Given the description of an element on the screen output the (x, y) to click on. 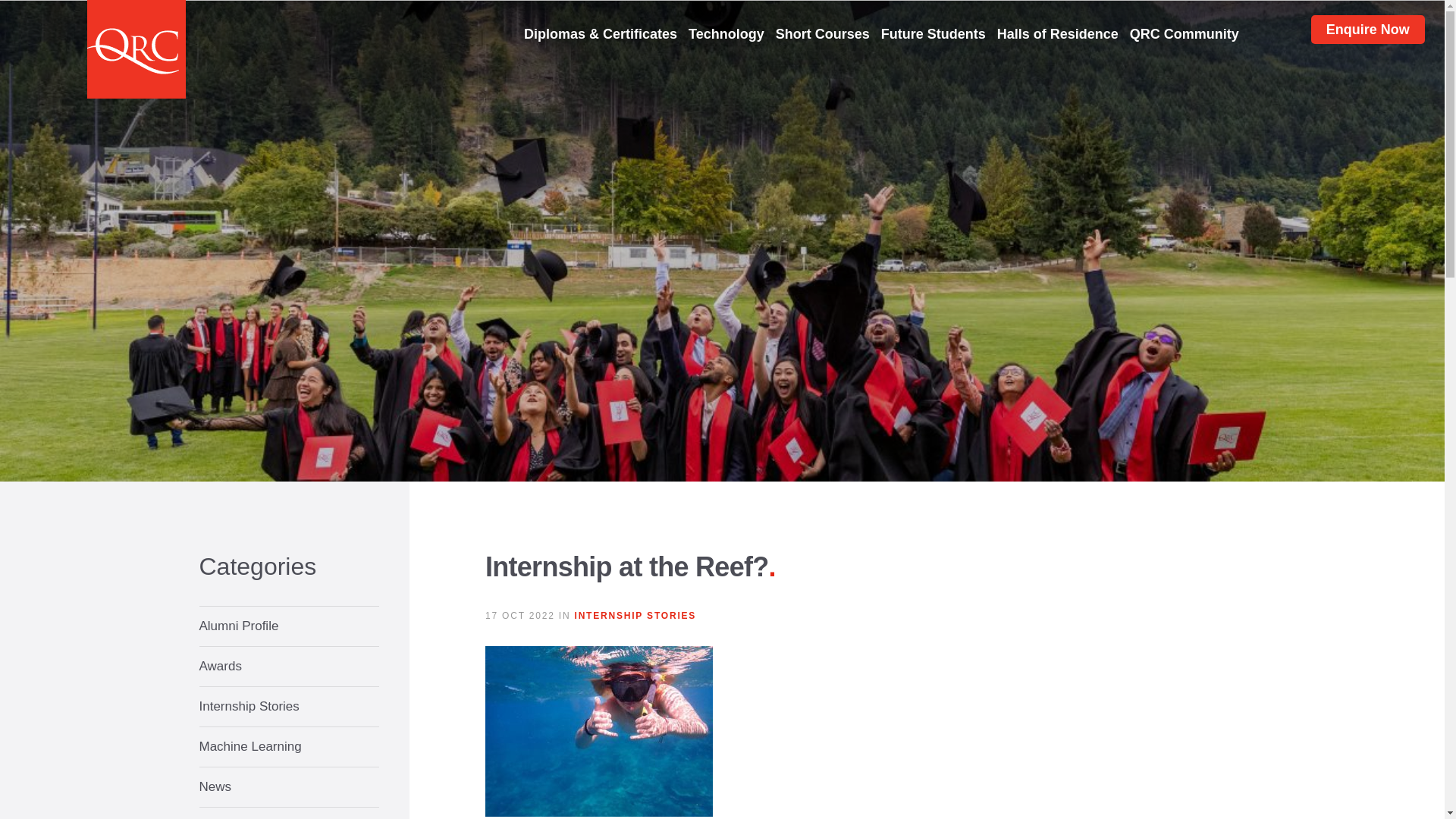
Technology (726, 34)
Halls of Residence (1057, 34)
Short Courses (822, 34)
QRC Community (1184, 34)
Future Students (932, 34)
